Given the description of an element on the screen output the (x, y) to click on. 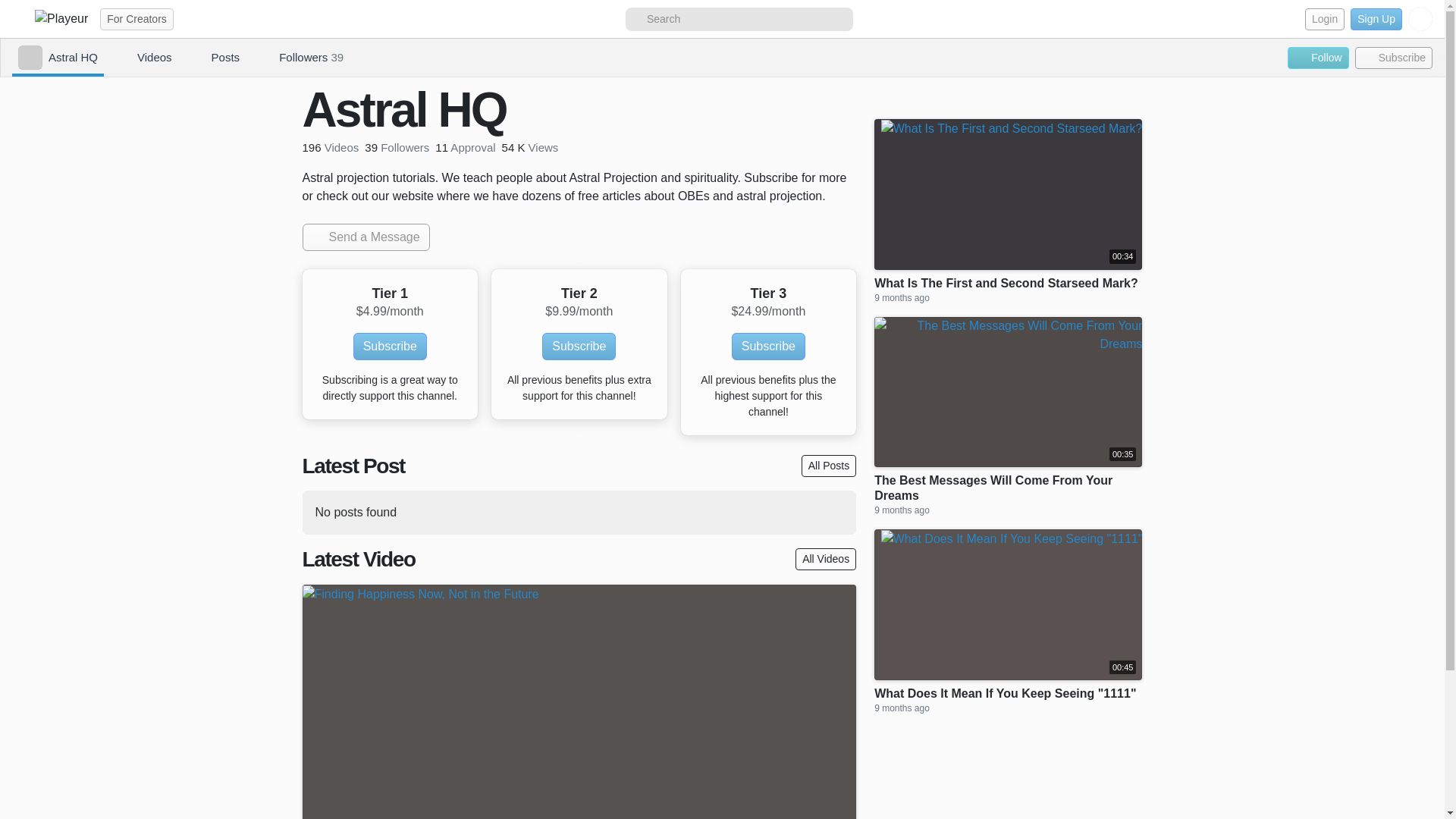
Posts (211, 57)
Followers 39 (297, 57)
Subscribe (578, 346)
Send a Message (365, 236)
Videos (140, 57)
Posts (211, 57)
Follow (1317, 57)
Subscribe (1393, 57)
All Videos (825, 558)
What Is The First and Second Starseed Mark? (1006, 283)
Subscribe (389, 346)
The Best Messages Will Come From Your Dreams (1008, 488)
All Posts (829, 465)
Subscribe (1393, 57)
What Is The First and Second Starseed Mark? (1006, 283)
